Given the description of an element on the screen output the (x, y) to click on. 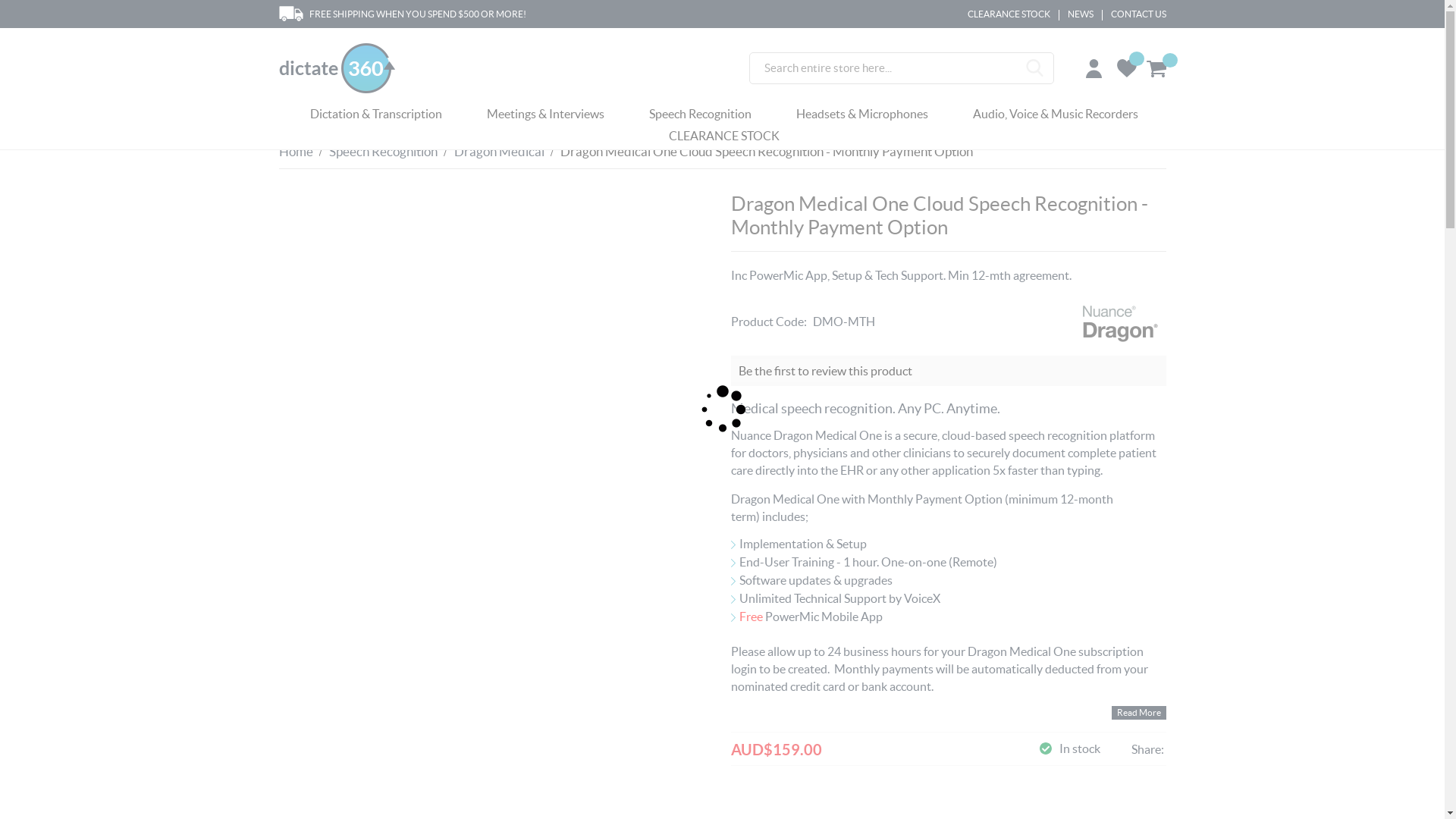
Dictation & Transcription Element type: text (374, 116)
Speech Recognition Element type: text (700, 116)
Home Element type: text (296, 151)
Speech Recognition Element type: text (383, 151)
Dictate 360 Element type: hover (337, 68)
Be the first to review this product Element type: text (825, 370)
Read More Element type: text (1138, 712)
Audio, Voice & Music Recorders Element type: text (1054, 116)
My Cart Element type: text (1156, 68)
CLEARANCE STOCK Element type: text (724, 138)
Dragon Medical Element type: text (499, 151)
My Wish List Element type: hover (1125, 68)
NEWS Element type: text (1080, 13)
CLEARANCE STOCK Element type: text (1008, 13)
SEARCH Element type: text (1035, 68)
My Account Element type: hover (1095, 66)
CONTACT US Element type: text (1137, 13)
Meetings & Interviews Element type: text (545, 116)
Headsets & Microphones Element type: text (861, 116)
Dictate 360 Element type: hover (351, 68)
